Given the description of an element on the screen output the (x, y) to click on. 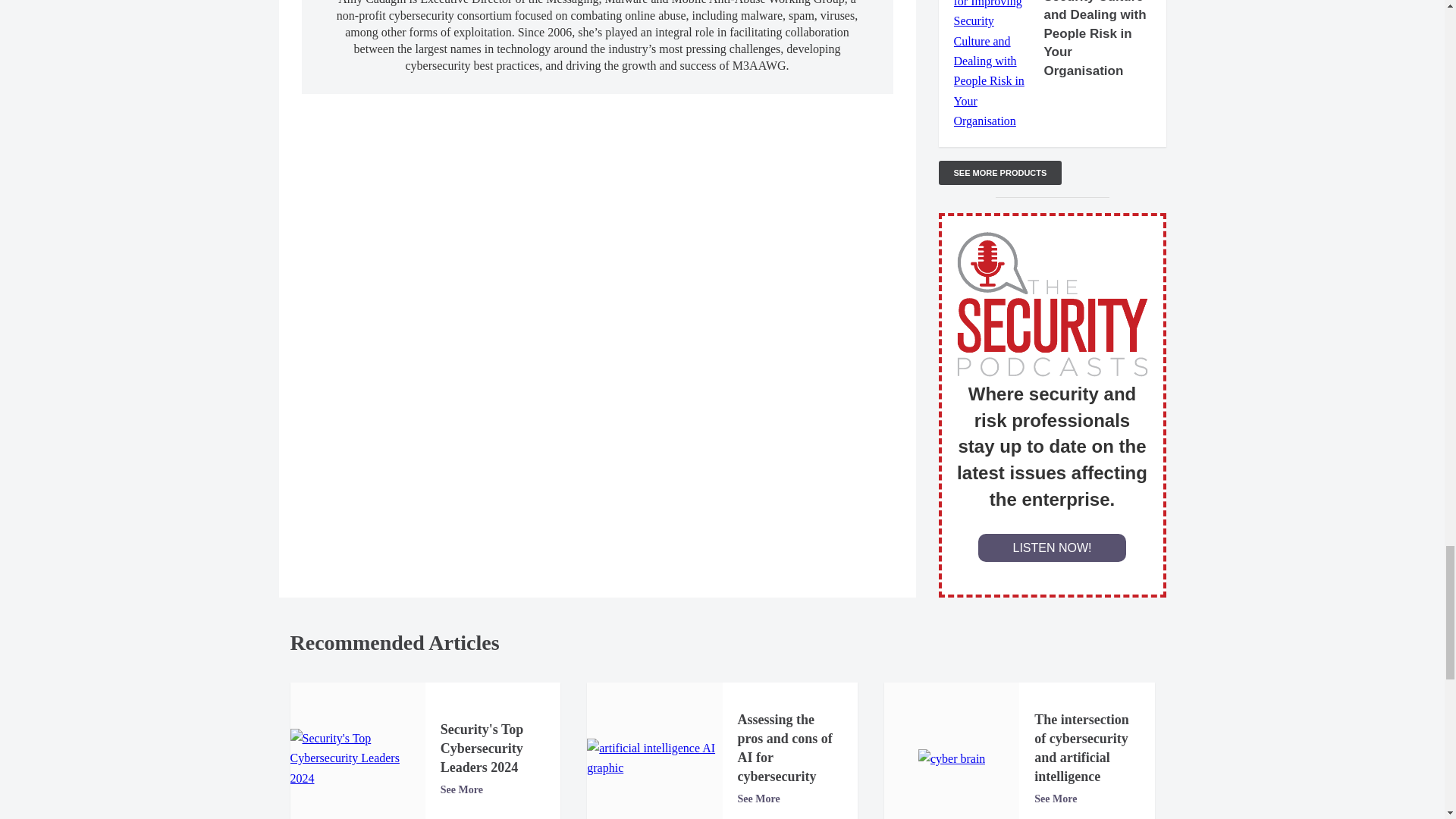
Artificial Intelligence (654, 758)
Security's Top Cybersecurity Leaders 2024 (357, 758)
cyber brain (951, 759)
